Given the description of an element on the screen output the (x, y) to click on. 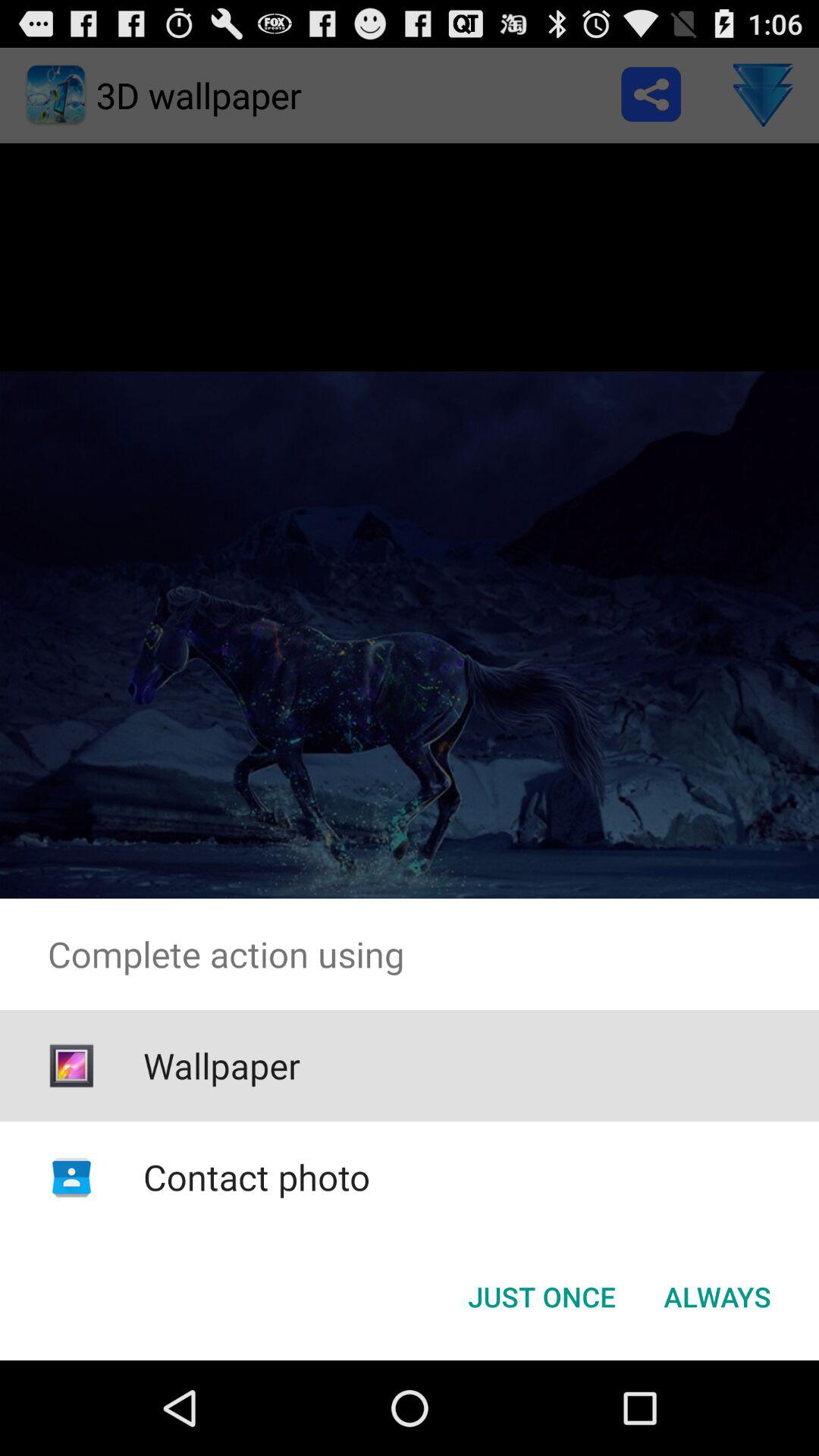
press the item below the complete action using icon (717, 1296)
